Given the description of an element on the screen output the (x, y) to click on. 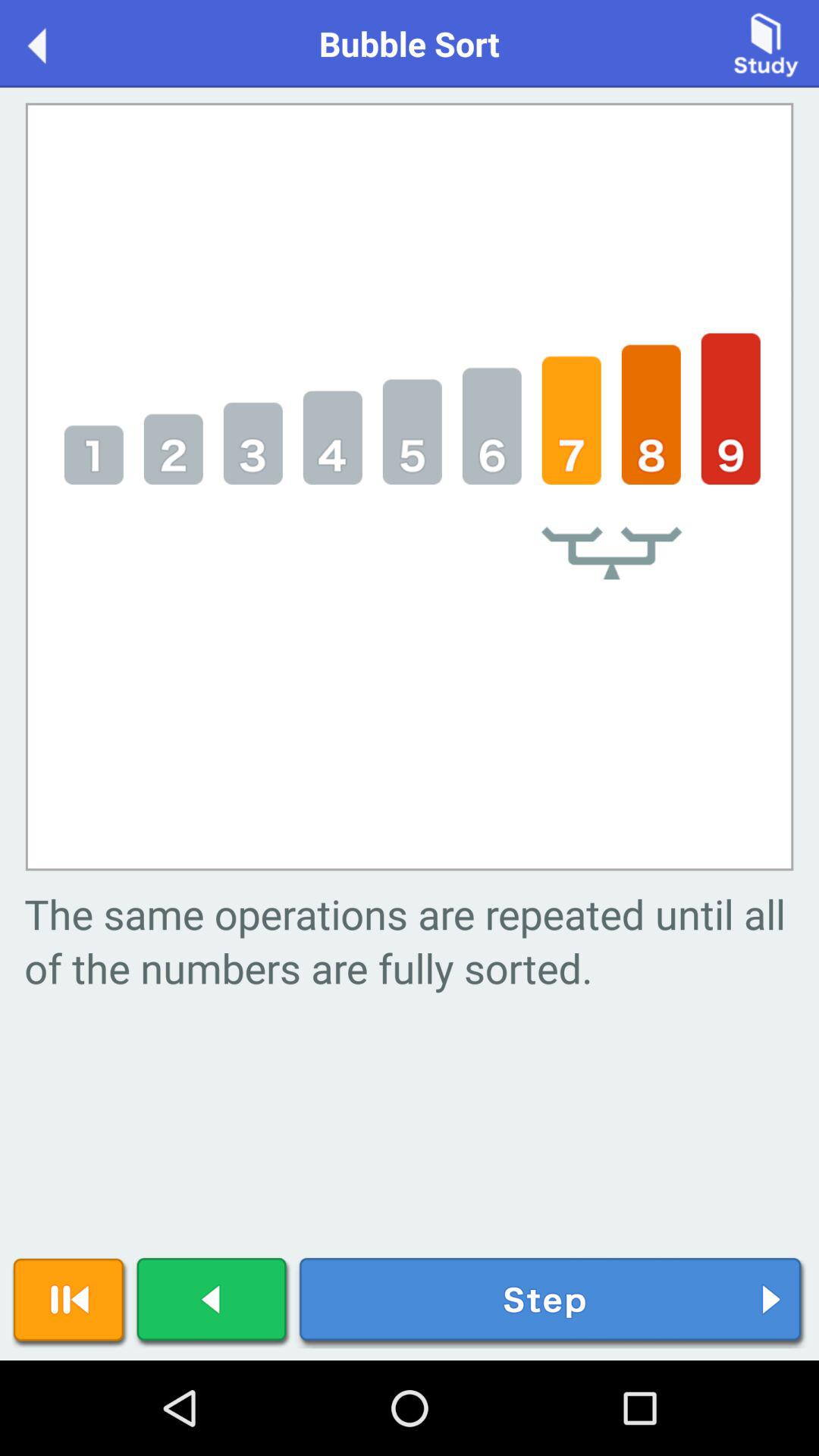
rewind and pause (70, 1303)
